Given the description of an element on the screen output the (x, y) to click on. 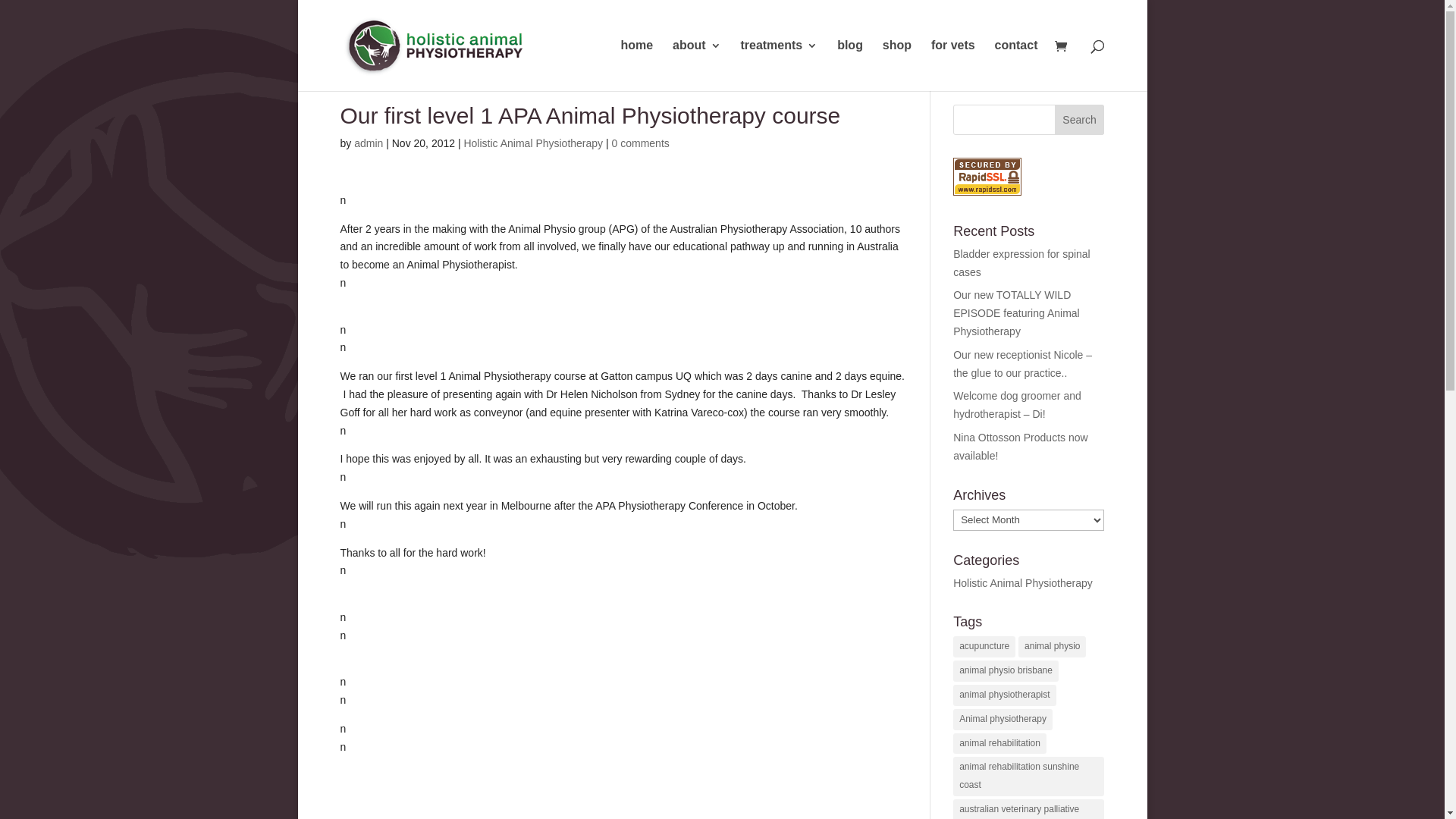
for vets Element type: text (953, 65)
admin Element type: text (368, 143)
Our new TOTALLY WILD EPISODE featuring Animal Physiotherapy Element type: text (1016, 312)
contact Element type: text (1016, 65)
Bladder expression for spinal cases Element type: text (1021, 262)
animal physio Element type: text (1051, 646)
animal rehabilitation sunshine coast Element type: text (1028, 776)
shop Element type: text (896, 65)
0 comments Element type: text (640, 143)
Animal physiotherapy Element type: text (1002, 719)
Holistic Animal Physiotherapy Element type: text (532, 143)
home Element type: text (636, 65)
Holistic Animal Physiotherapy Element type: text (1022, 583)
animal rehabilitation Element type: text (999, 743)
Nina Ottosson Products now available! Element type: text (1020, 446)
animal physiotherapist Element type: text (1004, 695)
Search Element type: text (1079, 119)
blog Element type: text (849, 65)
about Element type: text (696, 65)
animal physio brisbane Element type: text (1005, 670)
acupuncture Element type: text (984, 646)
treatments Element type: text (778, 65)
